Given the description of an element on the screen output the (x, y) to click on. 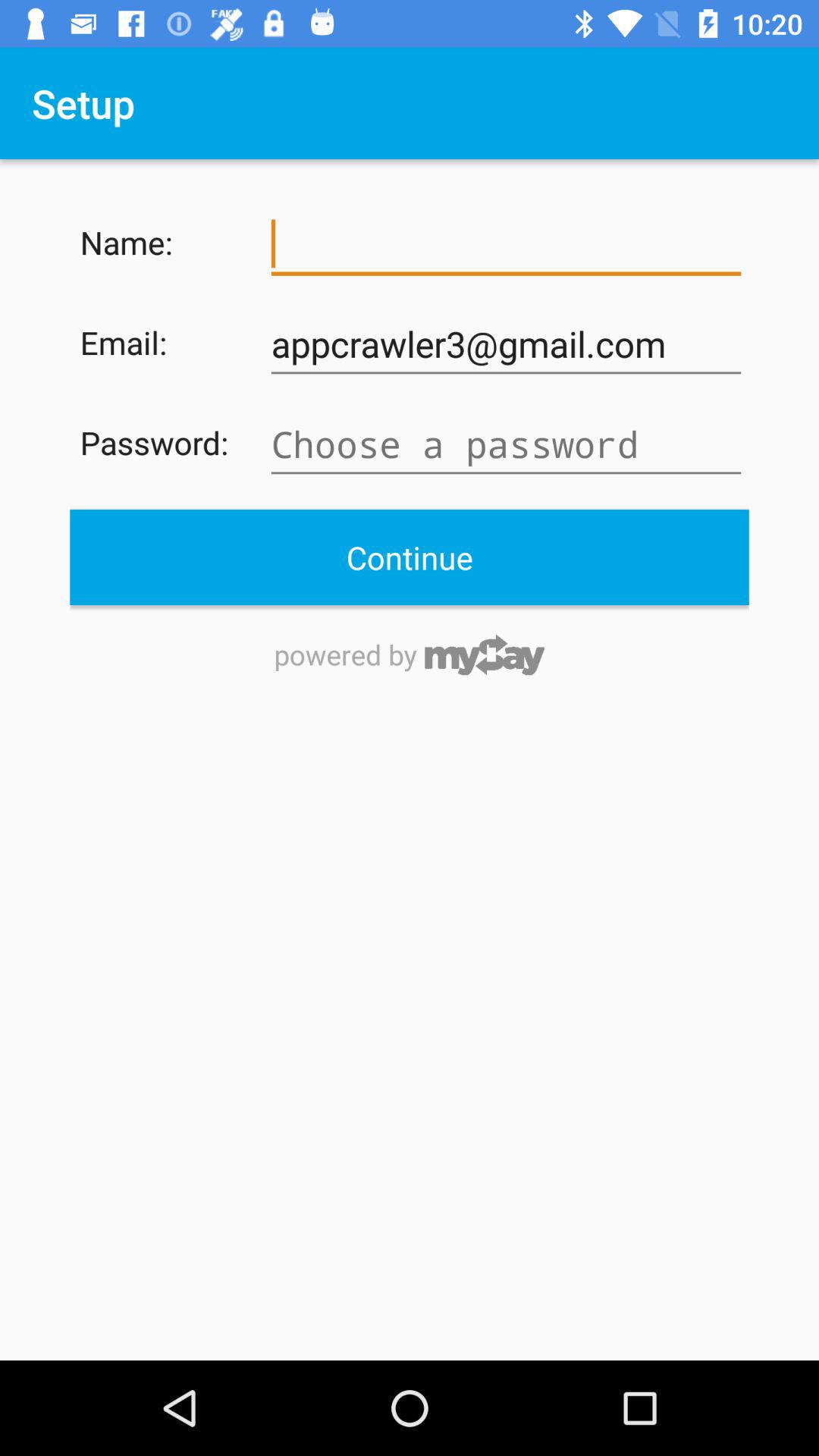
enter the password (506, 444)
